Given the description of an element on the screen output the (x, y) to click on. 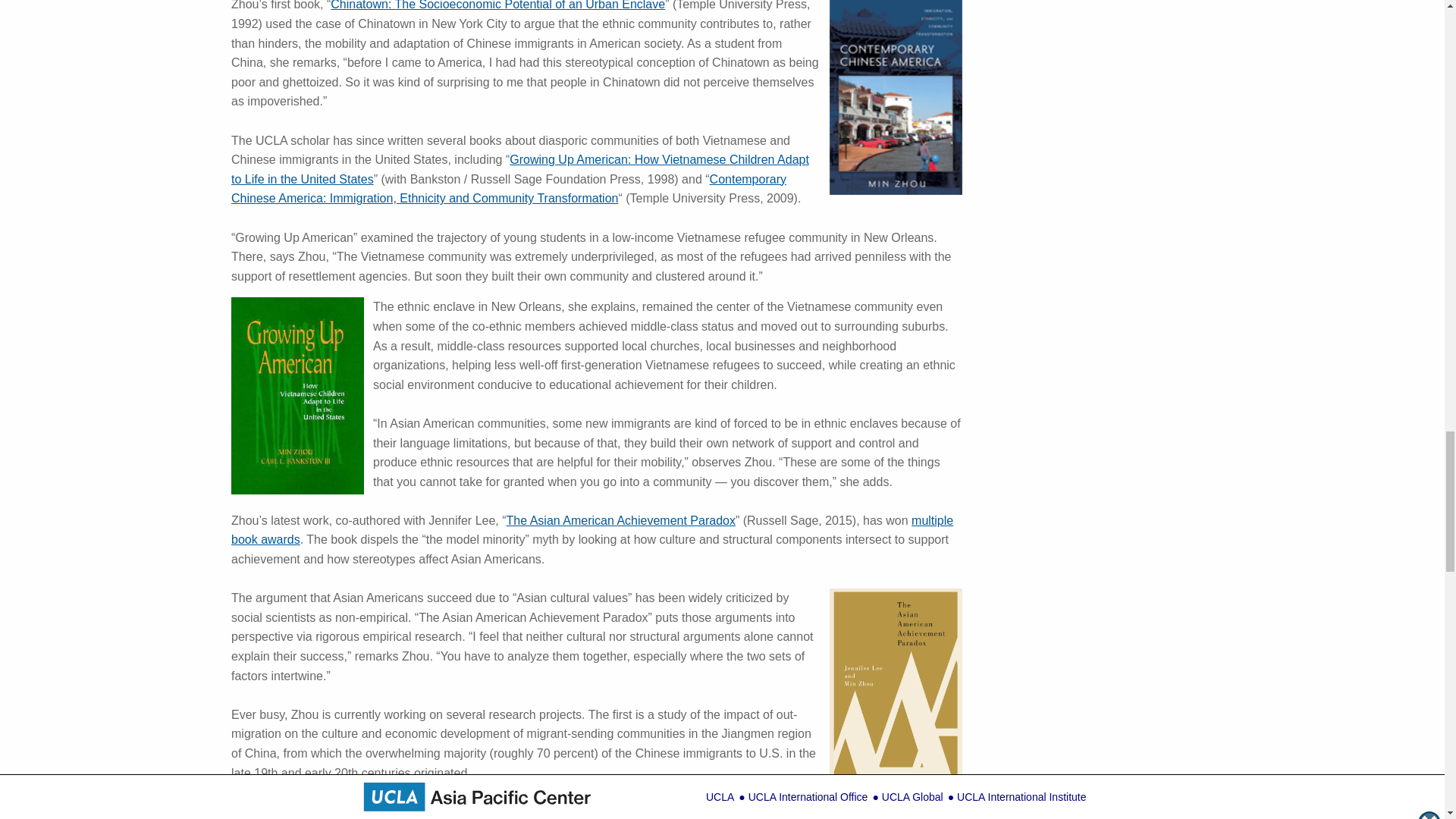
Chinatown: The Socioeconomic Potential of an Urban Enclave (497, 5)
multiple book awards (592, 530)
The Asian American Achievement Paradox (620, 520)
